Given the description of an element on the screen output the (x, y) to click on. 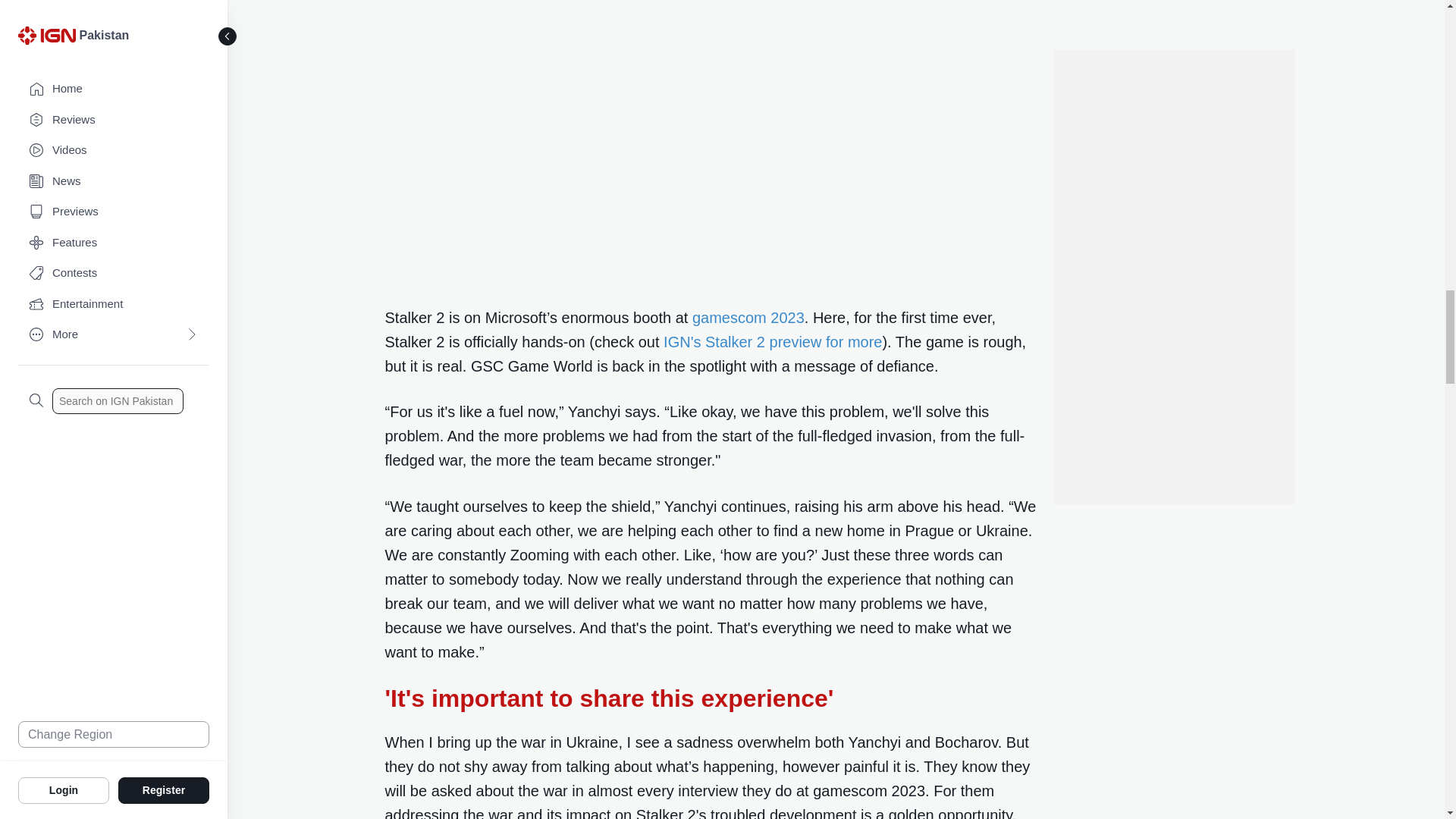
gamescom 2023 (749, 317)
